Given the description of an element on the screen output the (x, y) to click on. 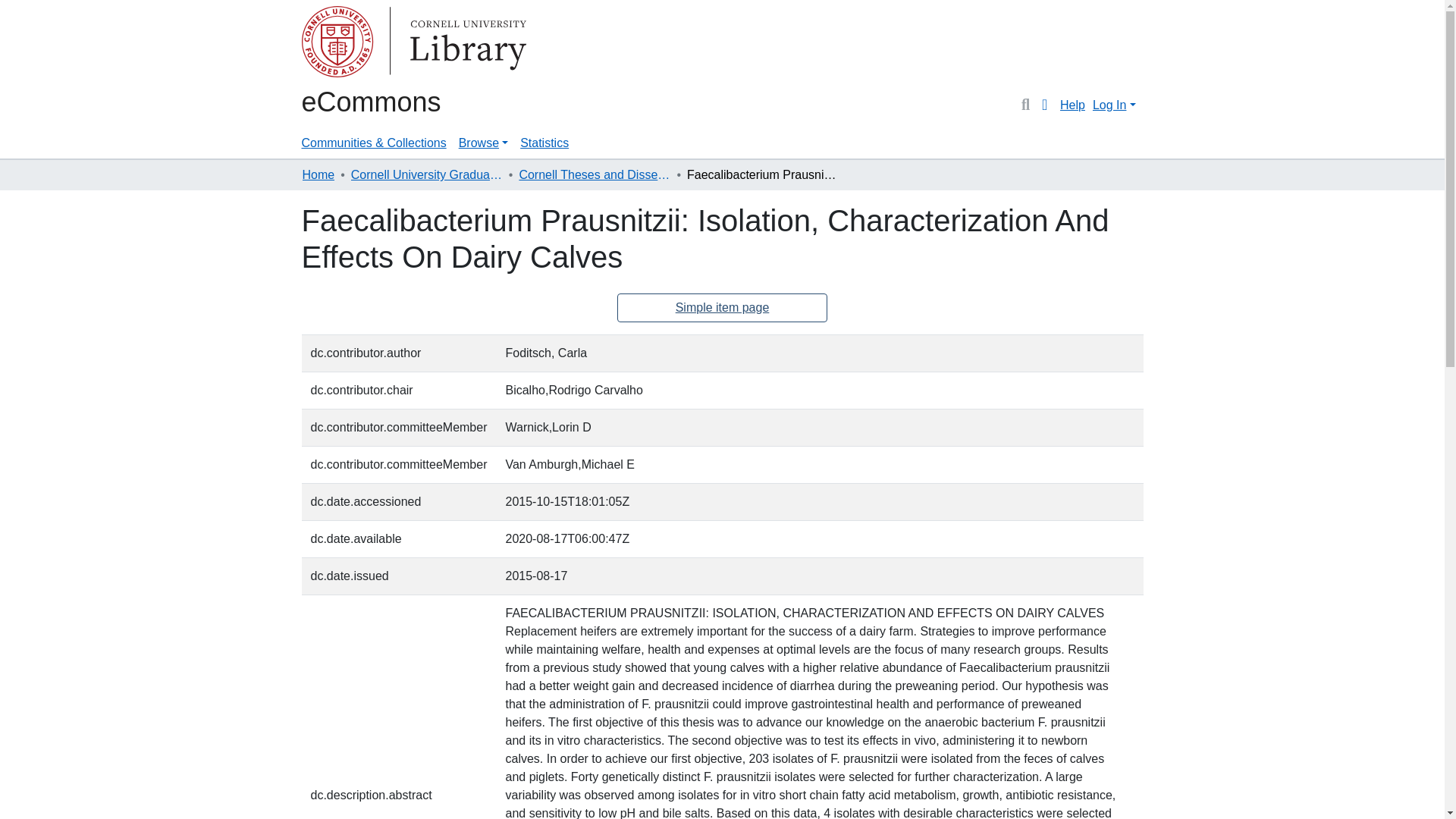
Statistics (544, 142)
Browse (482, 142)
Cornell University (339, 43)
eCommons (371, 101)
Log In (1113, 104)
Simple item page (722, 307)
Library (362, 43)
Help (1071, 104)
Cornell University Graduate School (426, 175)
Search (1025, 105)
Language switch (1044, 105)
Home (317, 175)
Cornell Theses and Dissertations (593, 175)
Statistics (544, 142)
